Given the description of an element on the screen output the (x, y) to click on. 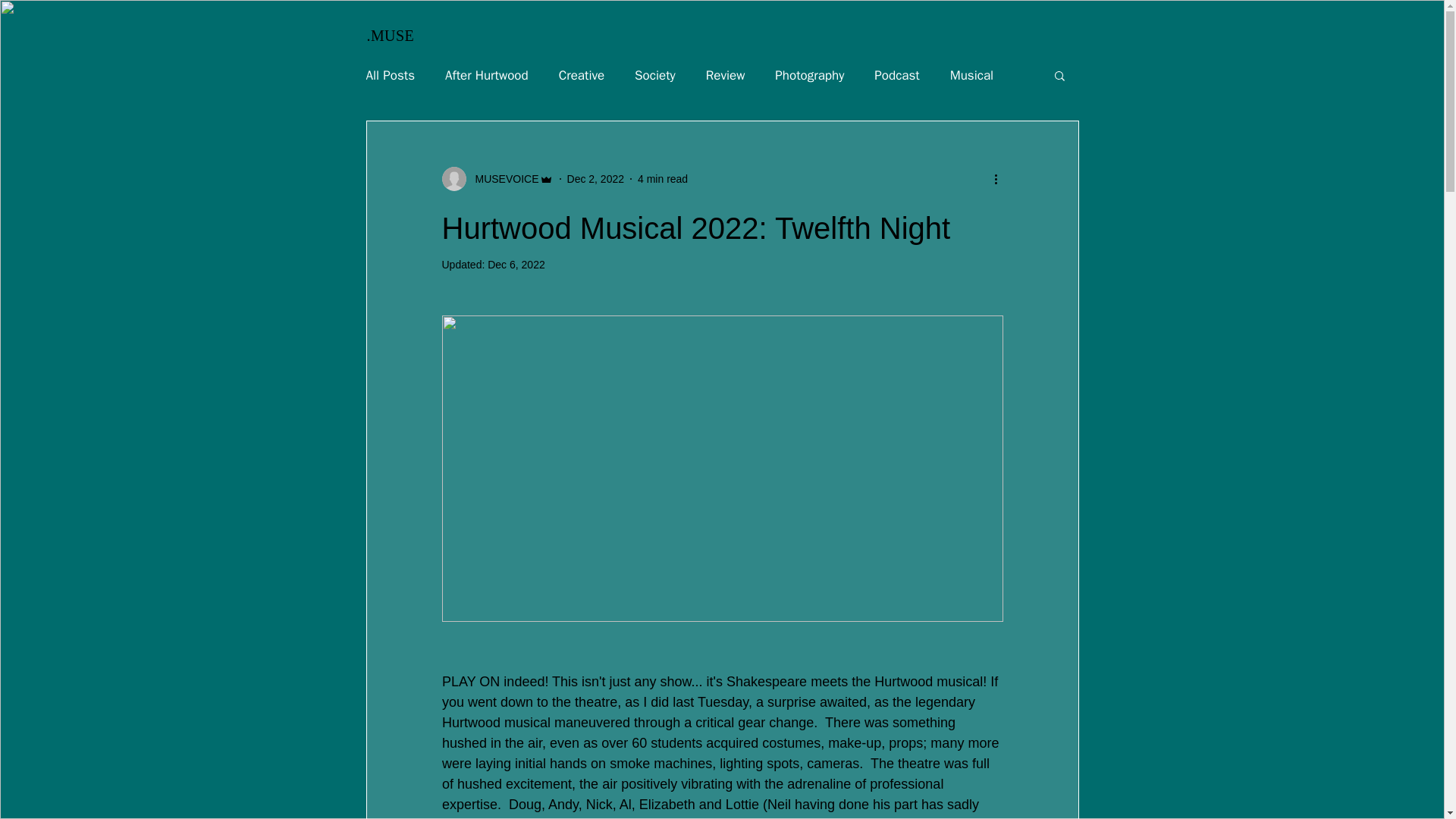
Review (725, 75)
Dec 2, 2022 (595, 178)
After Hurtwood (486, 75)
Musical (971, 75)
MUSEVOICE (497, 178)
Podcast (896, 75)
All Posts (389, 75)
Creative (581, 75)
MUSEVOICE (501, 179)
4 min read (662, 178)
